Given the description of an element on the screen output the (x, y) to click on. 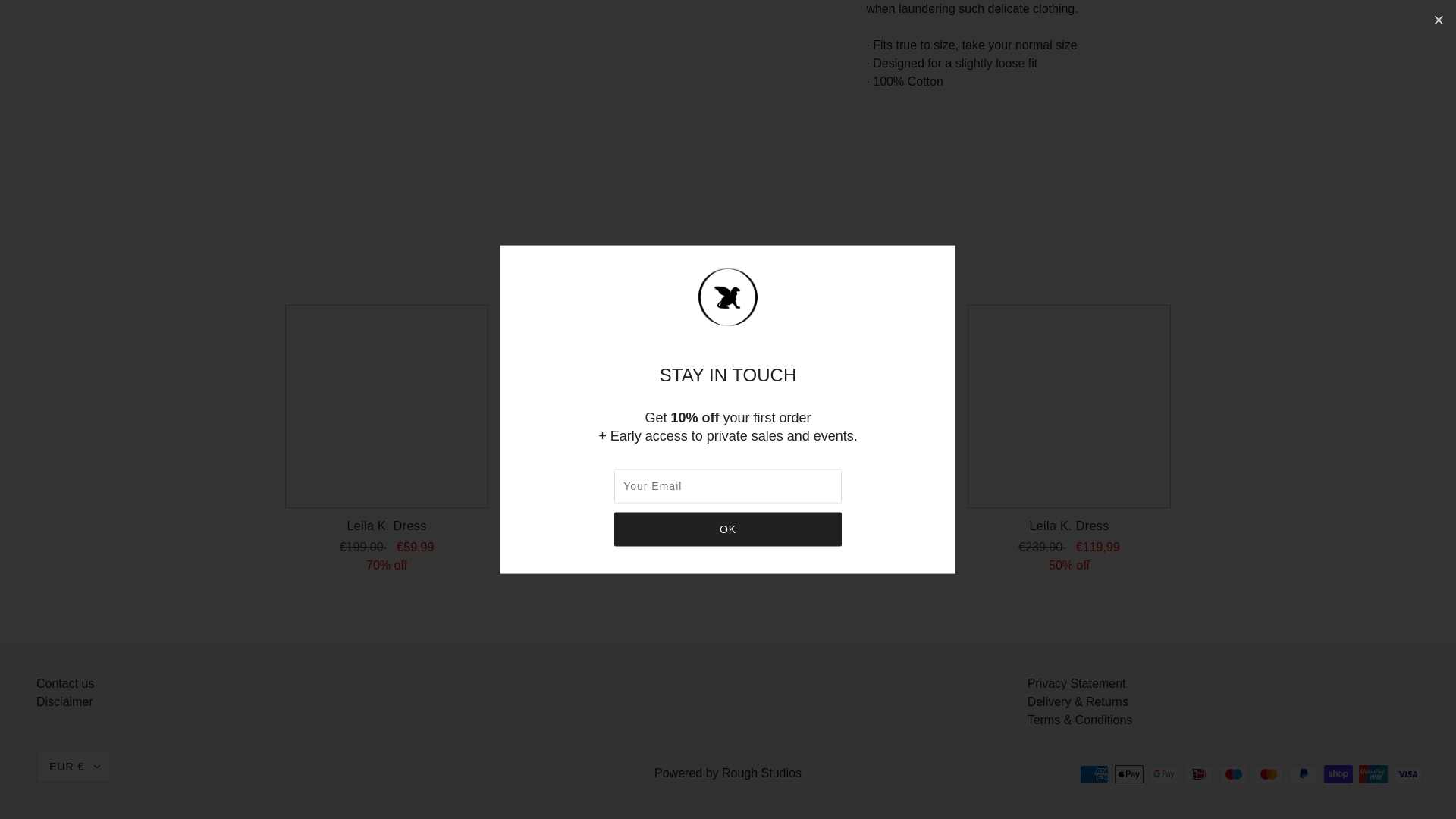
Maestro (1233, 773)
Mastercard (1267, 773)
PayPal (1302, 773)
Google Pay (1163, 773)
iDEAL (1198, 773)
Union Pay (1372, 773)
American Express (1094, 773)
Apple Pay (1128, 773)
Visa (1407, 773)
Shop Pay (1337, 773)
